Given the description of an element on the screen output the (x, y) to click on. 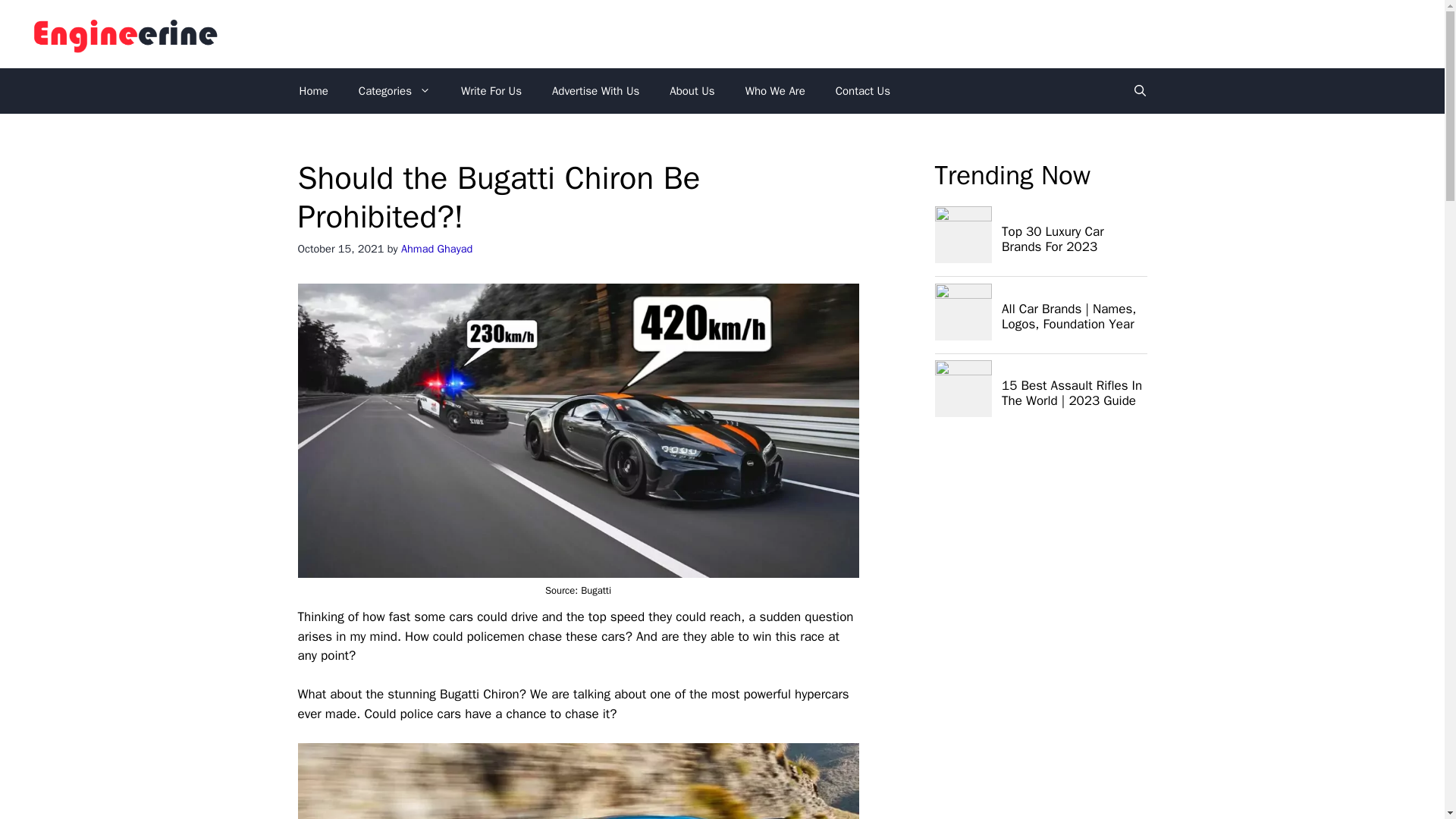
Home (312, 90)
About Us (691, 90)
Categories (394, 90)
Who We Are (775, 90)
Write For Us (491, 90)
View all posts by Ahmad Ghayad (436, 248)
Advertise With Us (595, 90)
